Given the description of an element on the screen output the (x, y) to click on. 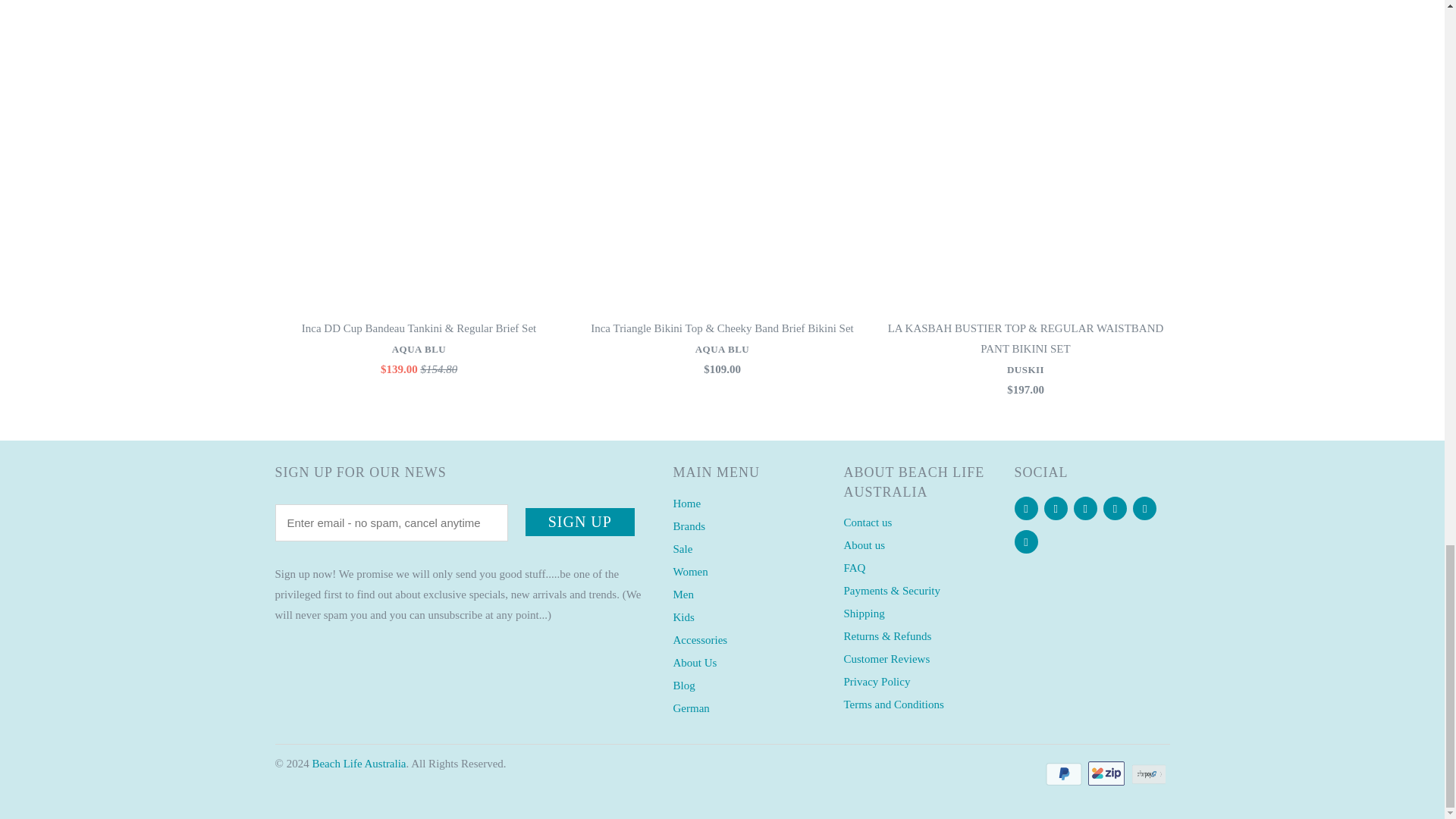
Sign Up (579, 521)
